Given the description of an element on the screen output the (x, y) to click on. 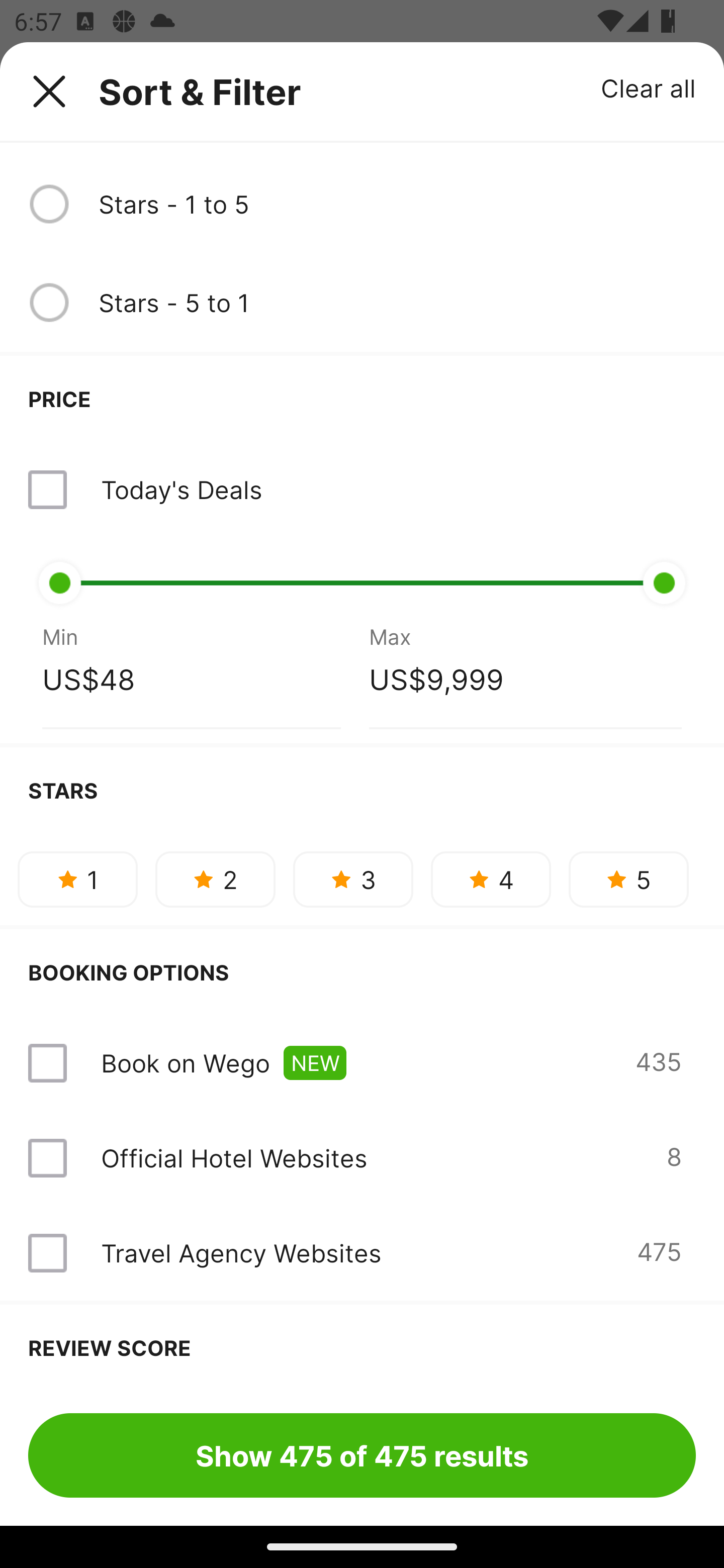
Clear all (648, 87)
Stars - 1 to 5 (396, 203)
Stars - 5 to 1 (396, 302)
Today's Deals (362, 489)
Today's Deals (181, 488)
1 (77, 879)
2 (214, 879)
3 (352, 879)
4 (491, 879)
5 (627, 879)
Book on Wego NEW 435 (362, 1063)
Book on Wego (184, 1062)
Official Hotel Websites 8 (362, 1157)
Official Hotel Websites (233, 1157)
Travel Agency Websites 475 (362, 1252)
Travel Agency Websites (240, 1252)
Show 475 of 475 results (361, 1454)
